Given the description of an element on the screen output the (x, y) to click on. 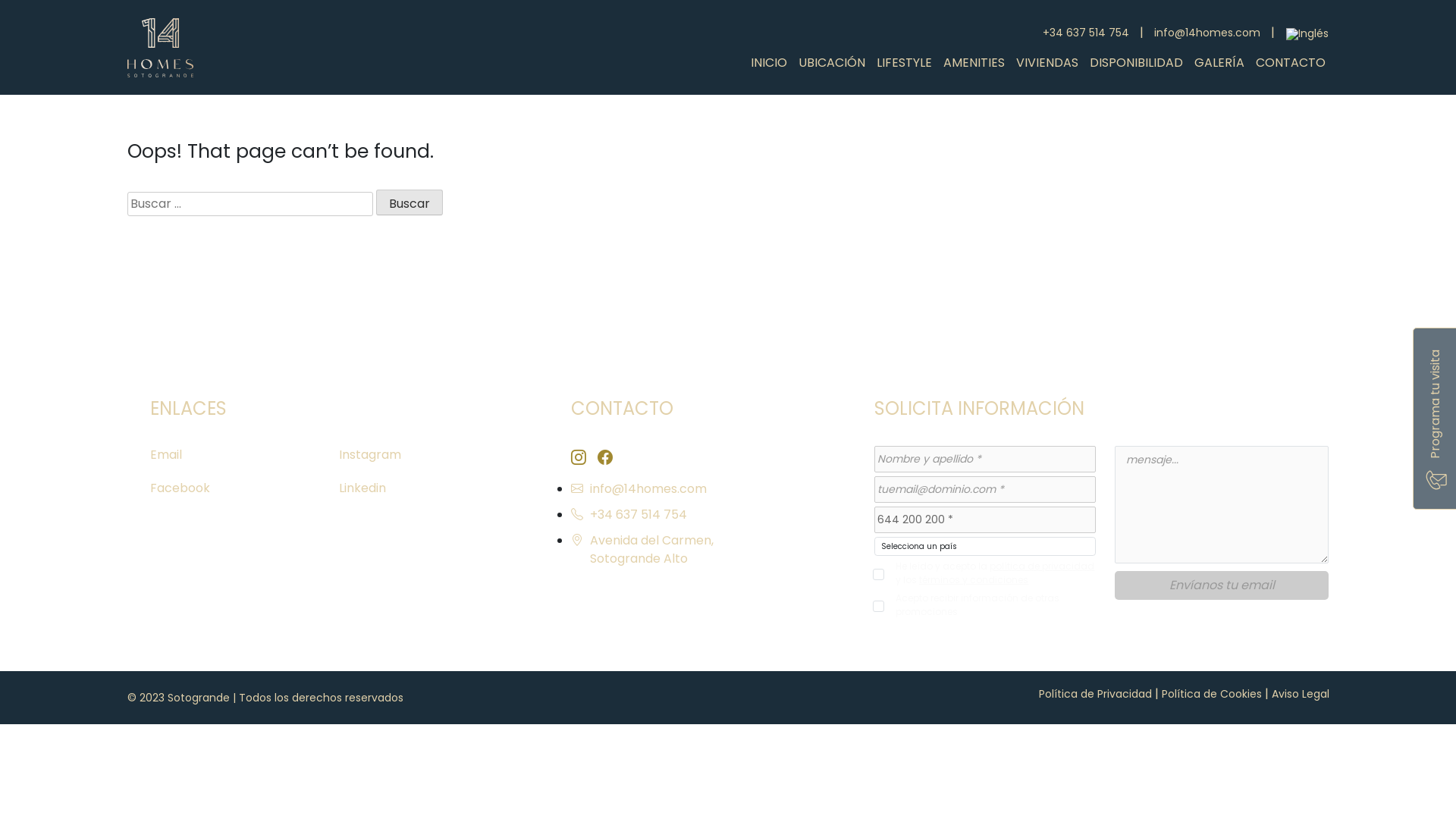
LIFESTYLE Element type: text (903, 62)
AMENITIES Element type: text (972, 62)
INICIO Element type: text (768, 62)
Email Element type: text (166, 454)
VIVIENDAS Element type: text (1046, 62)
Aviso Legal Element type: text (1299, 693)
Avenida del Carmen,
Sotogrande Alto Element type: text (697, 549)
Facebook Element type: text (180, 487)
Buscar Element type: text (409, 202)
+34 637 514 754 Element type: text (1084, 32)
Instagram Element type: text (369, 454)
info@14homes.com Element type: text (697, 489)
+34 637 514 754 Element type: text (697, 514)
info@14homes.com Element type: text (1207, 32)
DISPONIBILIDAD Element type: text (1135, 62)
CONTACTO Element type: text (1289, 62)
Linkedin Element type: text (361, 487)
